Given the description of an element on the screen output the (x, y) to click on. 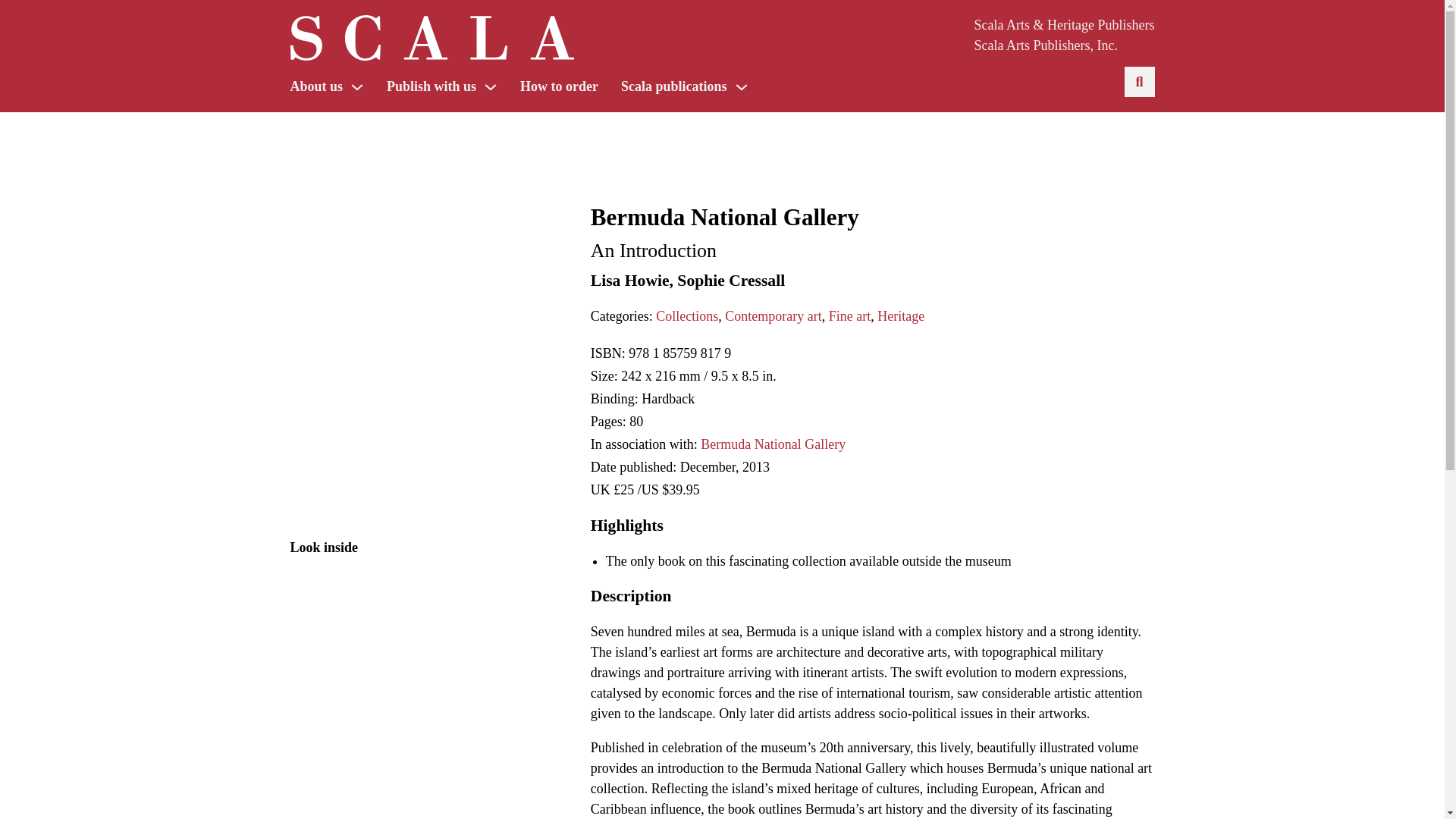
home link  (431, 40)
Publish with us (431, 86)
How to order (558, 86)
About us (315, 86)
Scala publications (673, 86)
